Given the description of an element on the screen output the (x, y) to click on. 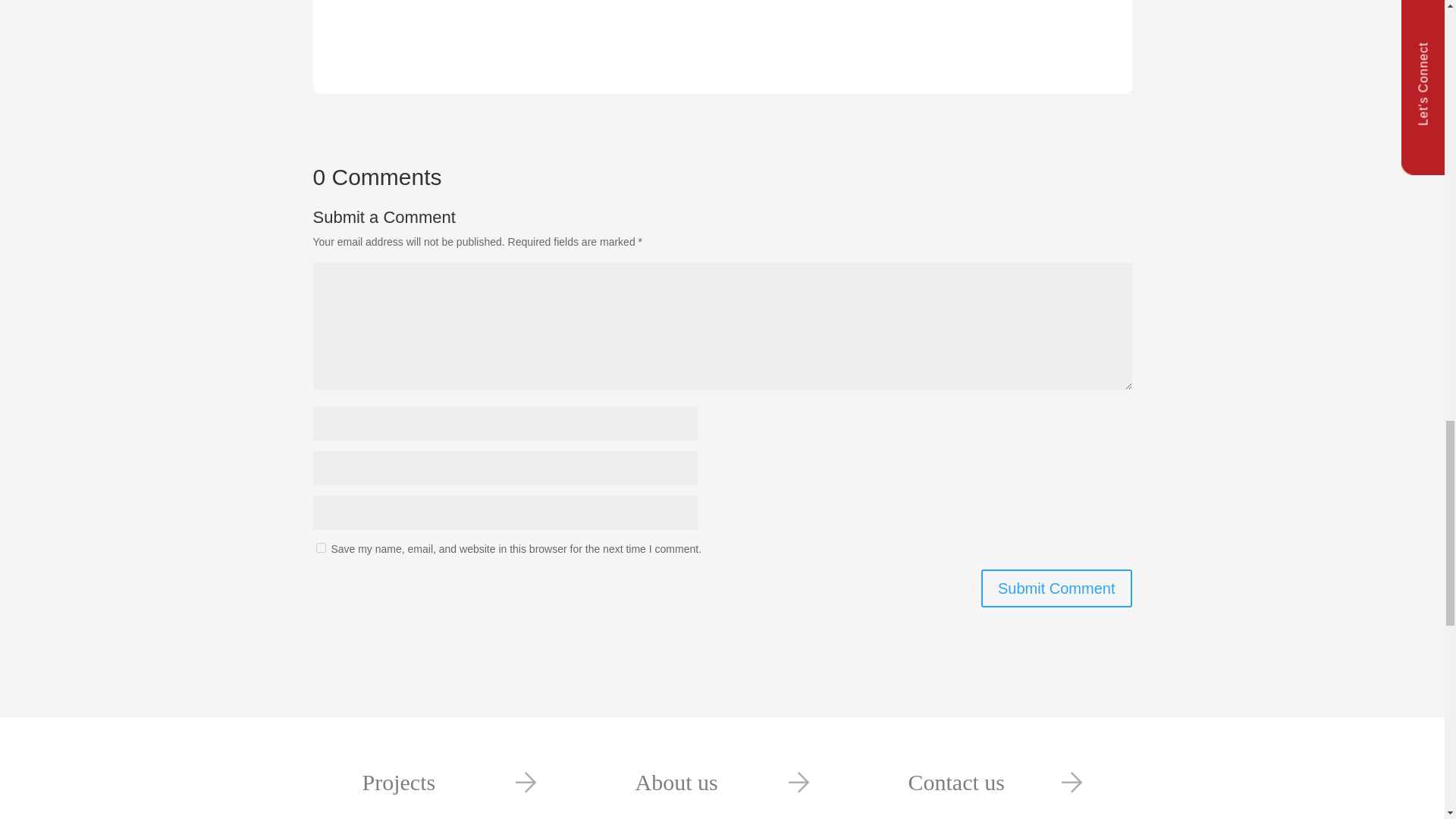
Projects (449, 768)
Submit Comment (1056, 588)
yes (319, 547)
Contact us (995, 768)
About us (722, 768)
